Given the description of an element on the screen output the (x, y) to click on. 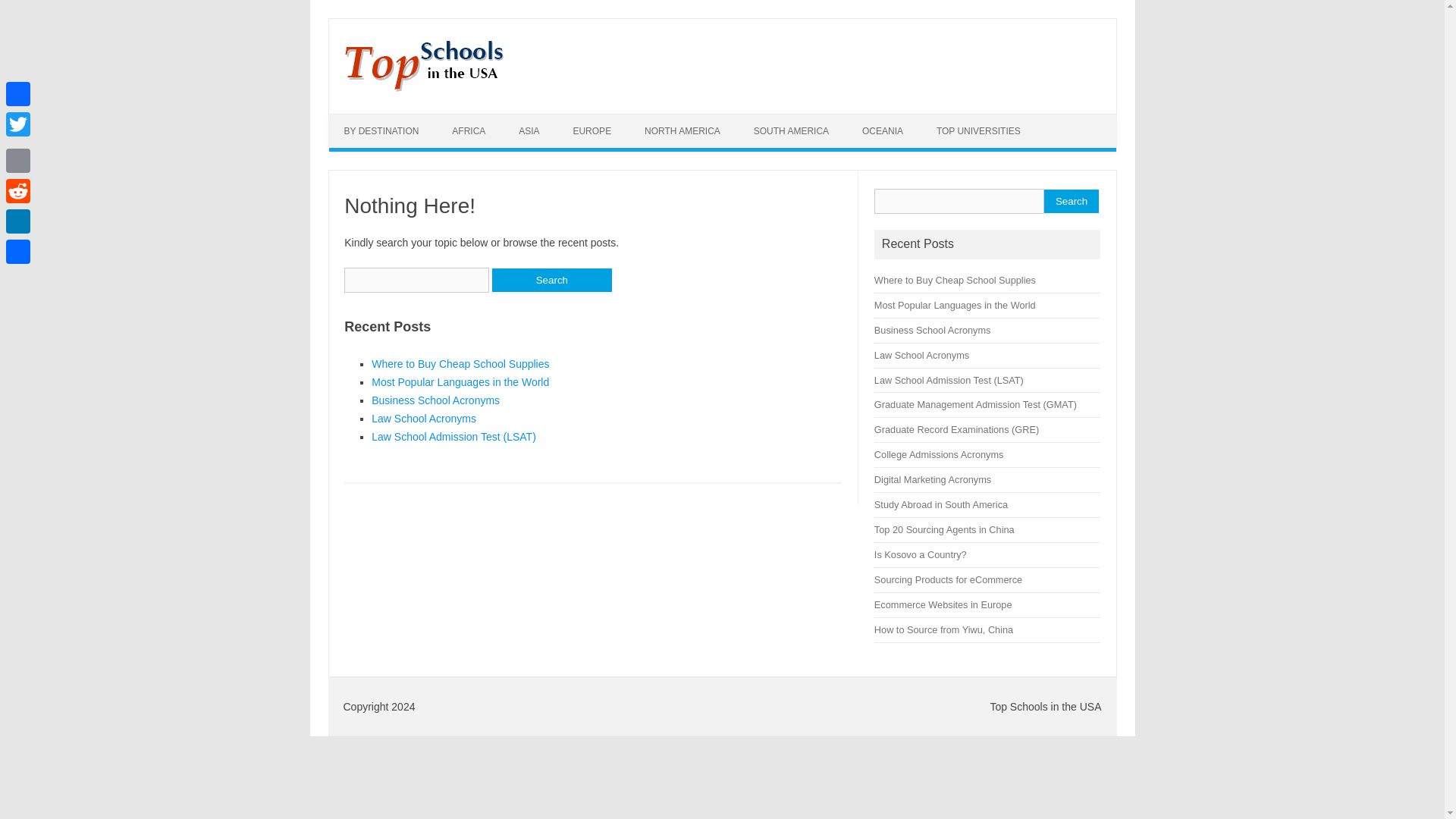
Twitter (17, 123)
Email (17, 160)
NORTH AMERICA (681, 131)
Twitter (17, 123)
Search (551, 279)
Business School Acronyms (435, 399)
Facebook (17, 93)
Search (1070, 200)
Digital Marketing Acronyms (933, 479)
Is Kosovo a Country? (920, 554)
Facebook (17, 93)
Email (17, 160)
EUROPE (591, 131)
Skip to content (363, 118)
Study Abroad in South America (941, 504)
